Given the description of an element on the screen output the (x, y) to click on. 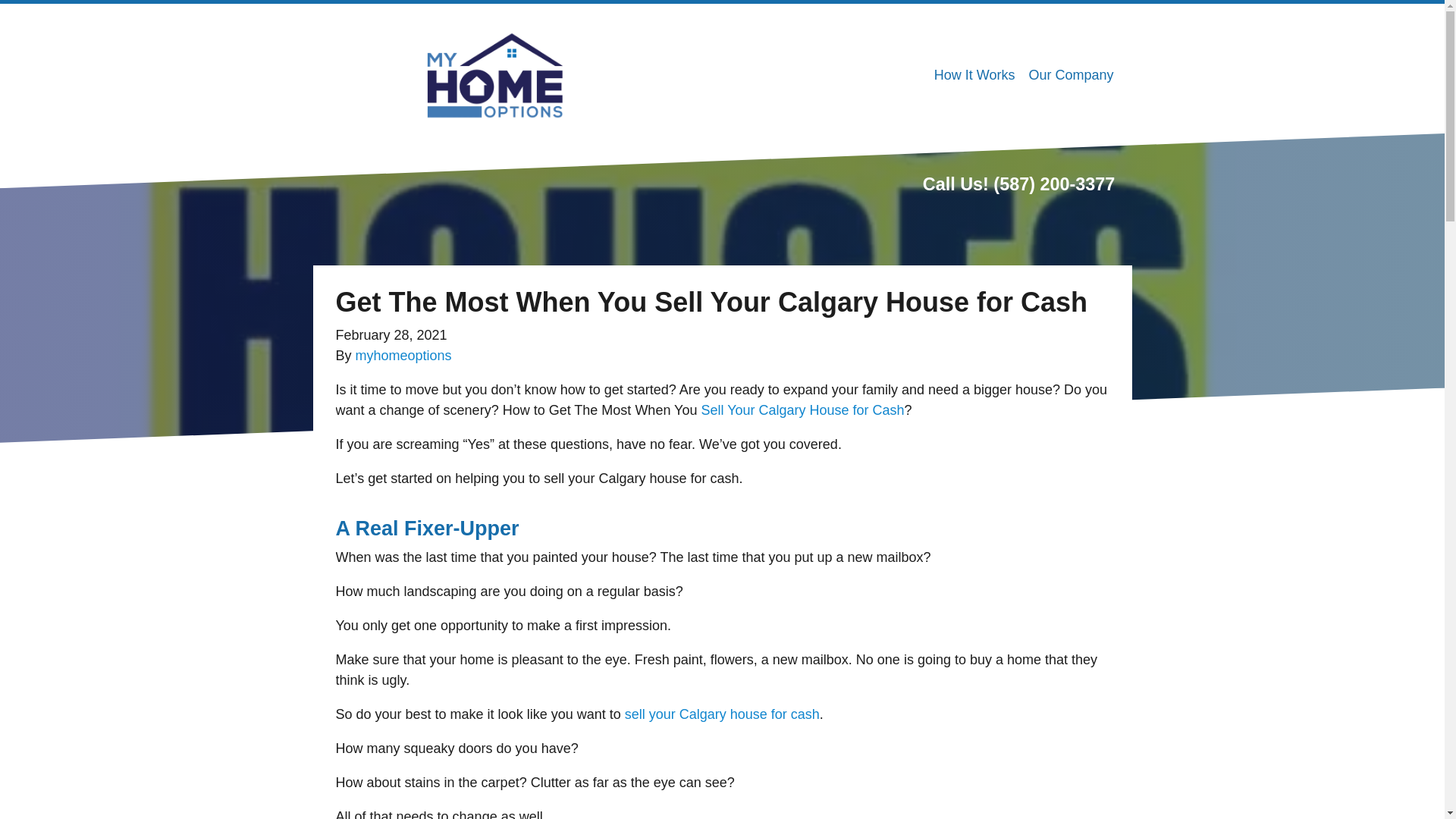
Our Company (1070, 75)
How It Works (974, 75)
Sell Your Calgary House for Cash (802, 409)
sell your Calgary house for cash (721, 713)
How It Works (974, 75)
Our Company (1070, 75)
myhomeoptions (403, 355)
